Given the description of an element on the screen output the (x, y) to click on. 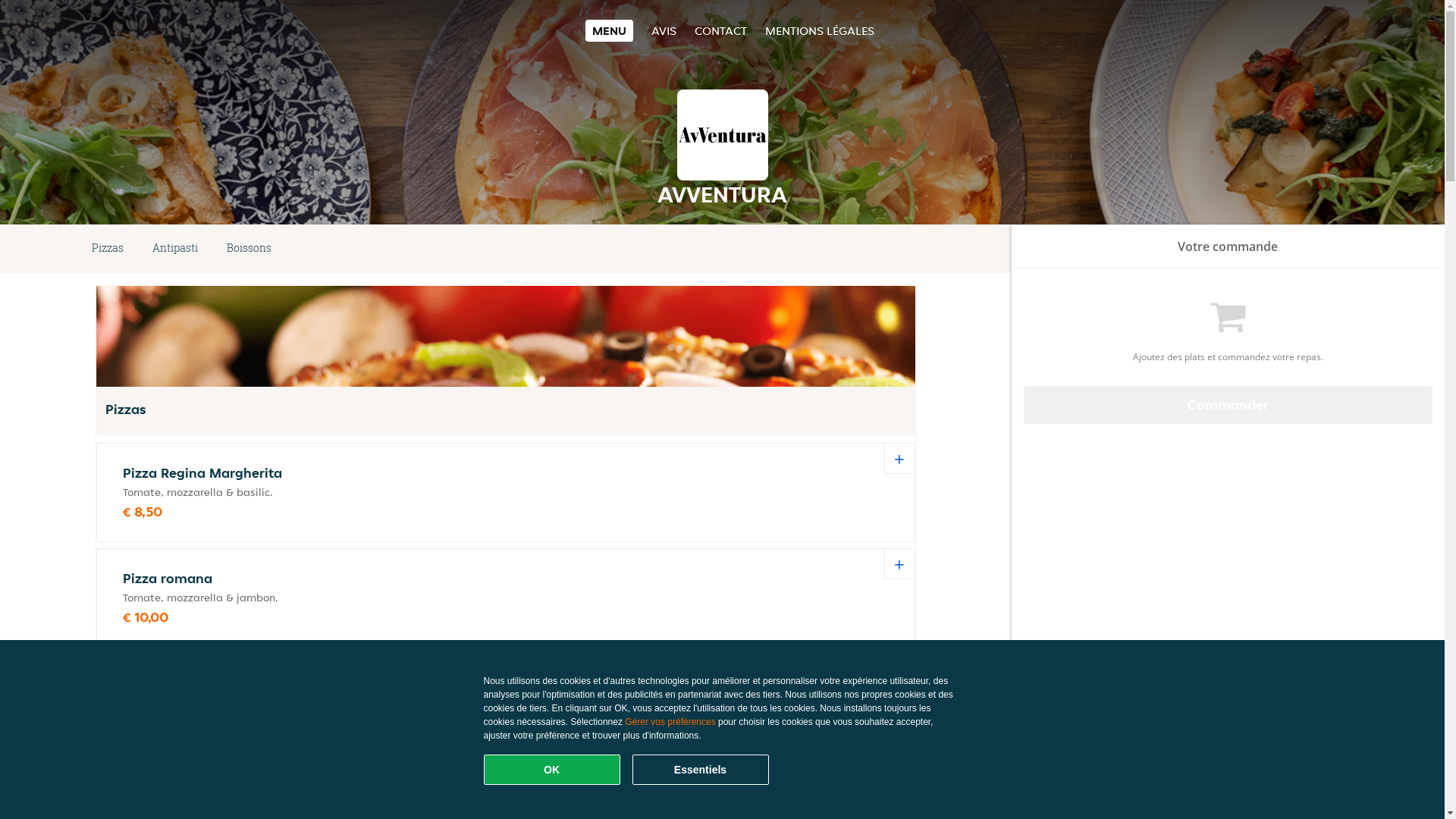
Commander Element type: text (1228, 404)
MENU Element type: text (609, 30)
CONTACT Element type: text (720, 30)
Boissons Element type: text (248, 248)
Pizzas Element type: text (107, 248)
Essentiels Element type: text (700, 769)
AVIS Element type: text (663, 30)
OK Element type: text (551, 769)
Antipasti Element type: text (175, 248)
